Given the description of an element on the screen output the (x, y) to click on. 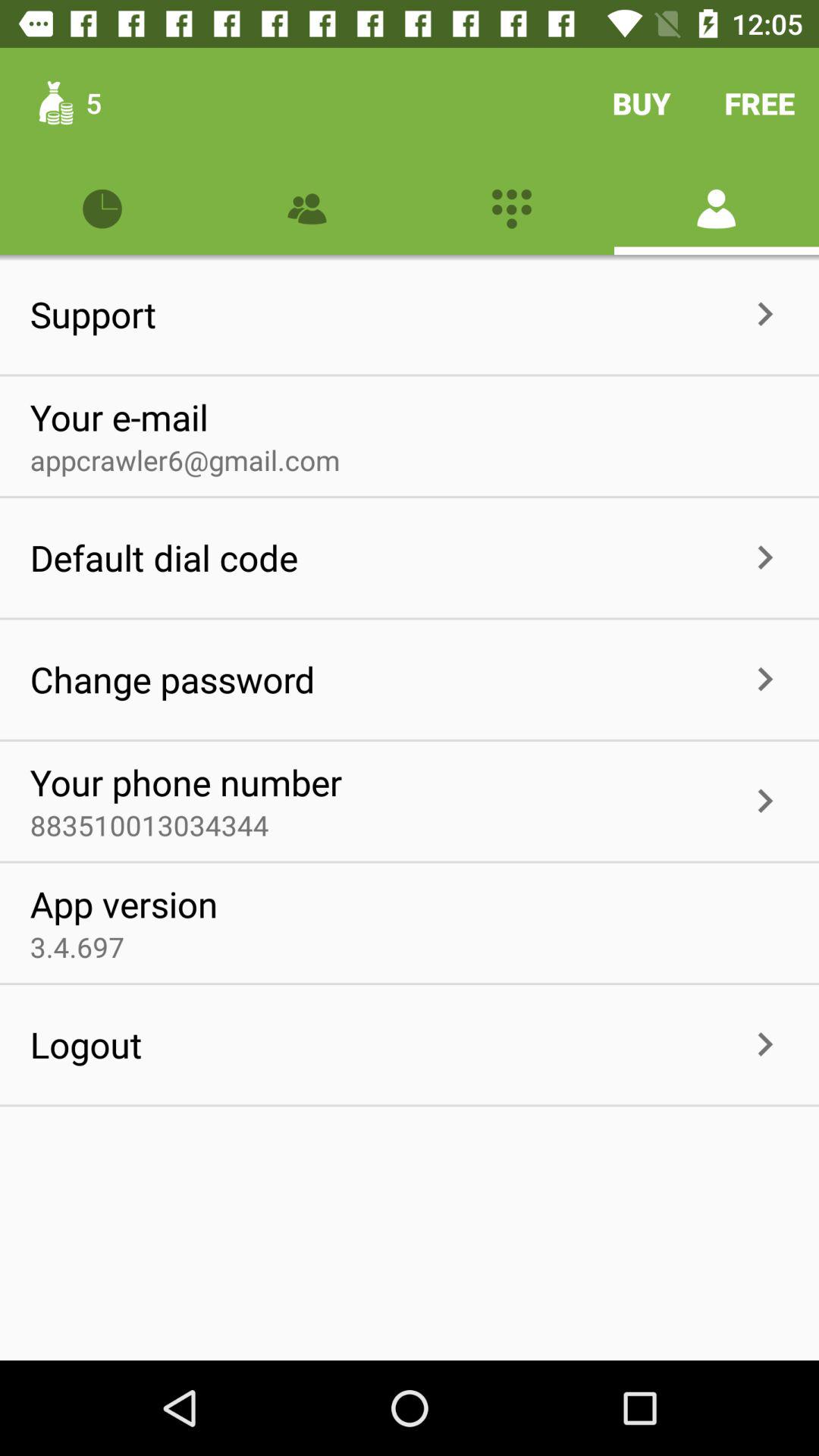
press the item to the right of the change password item (528, 679)
